Given the description of an element on the screen output the (x, y) to click on. 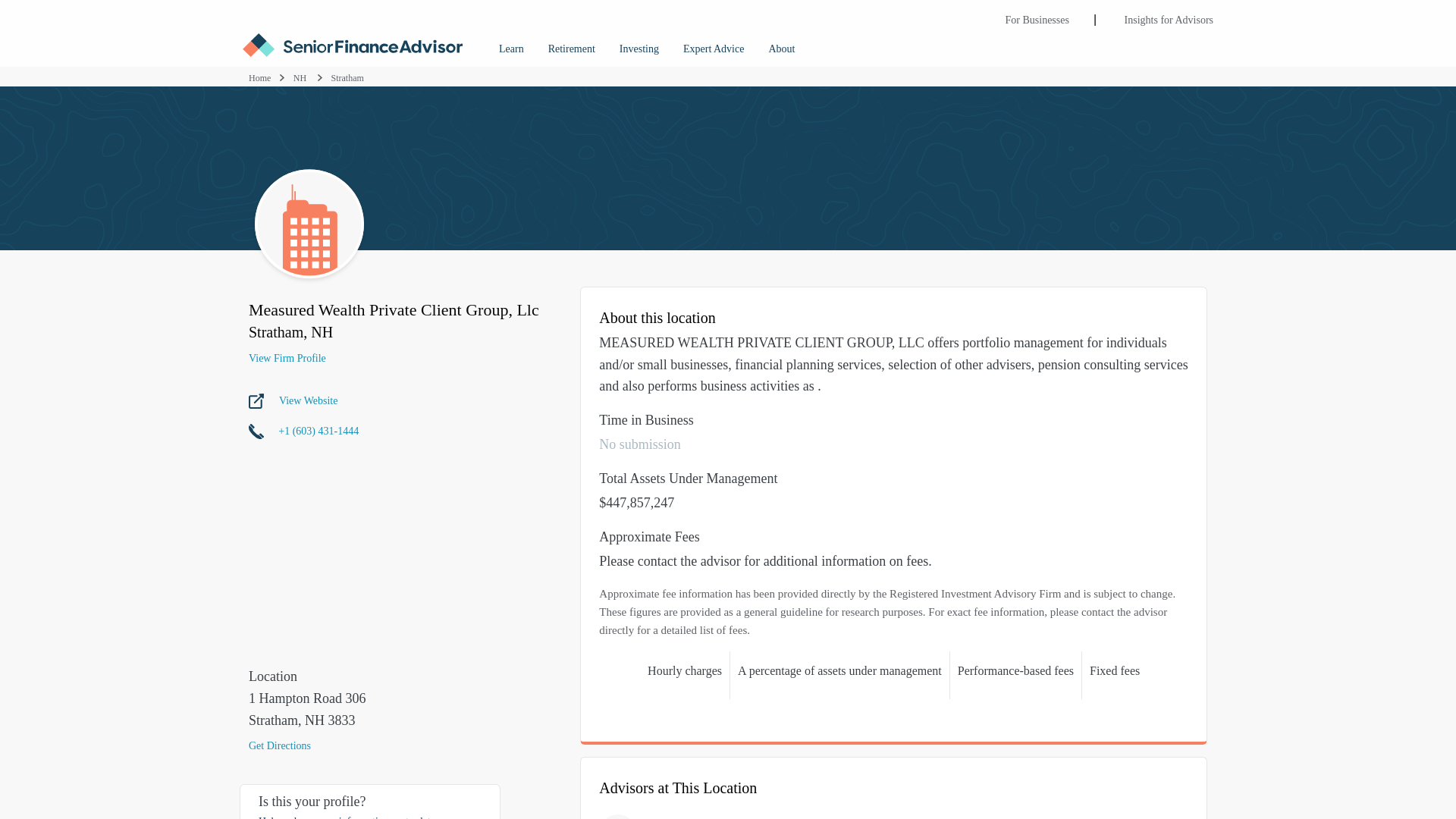
Retirement (571, 43)
Insights for Advisors (1168, 13)
NH (301, 77)
For Businesses (1036, 13)
Get Directions (386, 745)
Investing (639, 43)
Expert Advice (713, 43)
About (780, 43)
Home (259, 77)
Learn (510, 43)
